Given the description of an element on the screen output the (x, y) to click on. 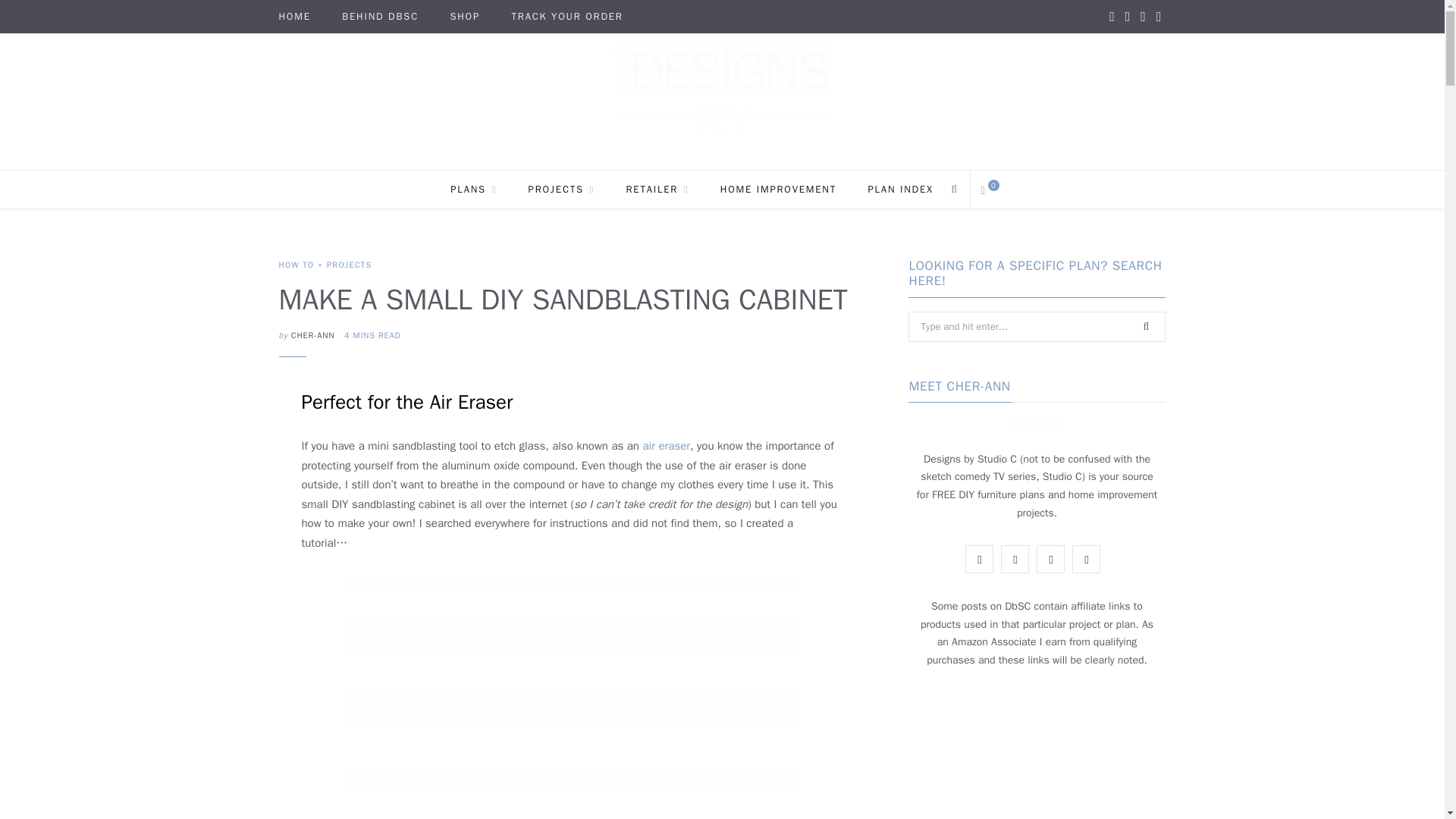
SHOP (464, 16)
PLANS (473, 189)
TRACK YOUR ORDER (566, 16)
Posts by Cher-Ann (312, 335)
BEHIND DBSC (380, 16)
Designs by Studio C (721, 101)
PROJECTS (561, 189)
HOME (294, 16)
